Given the description of an element on the screen output the (x, y) to click on. 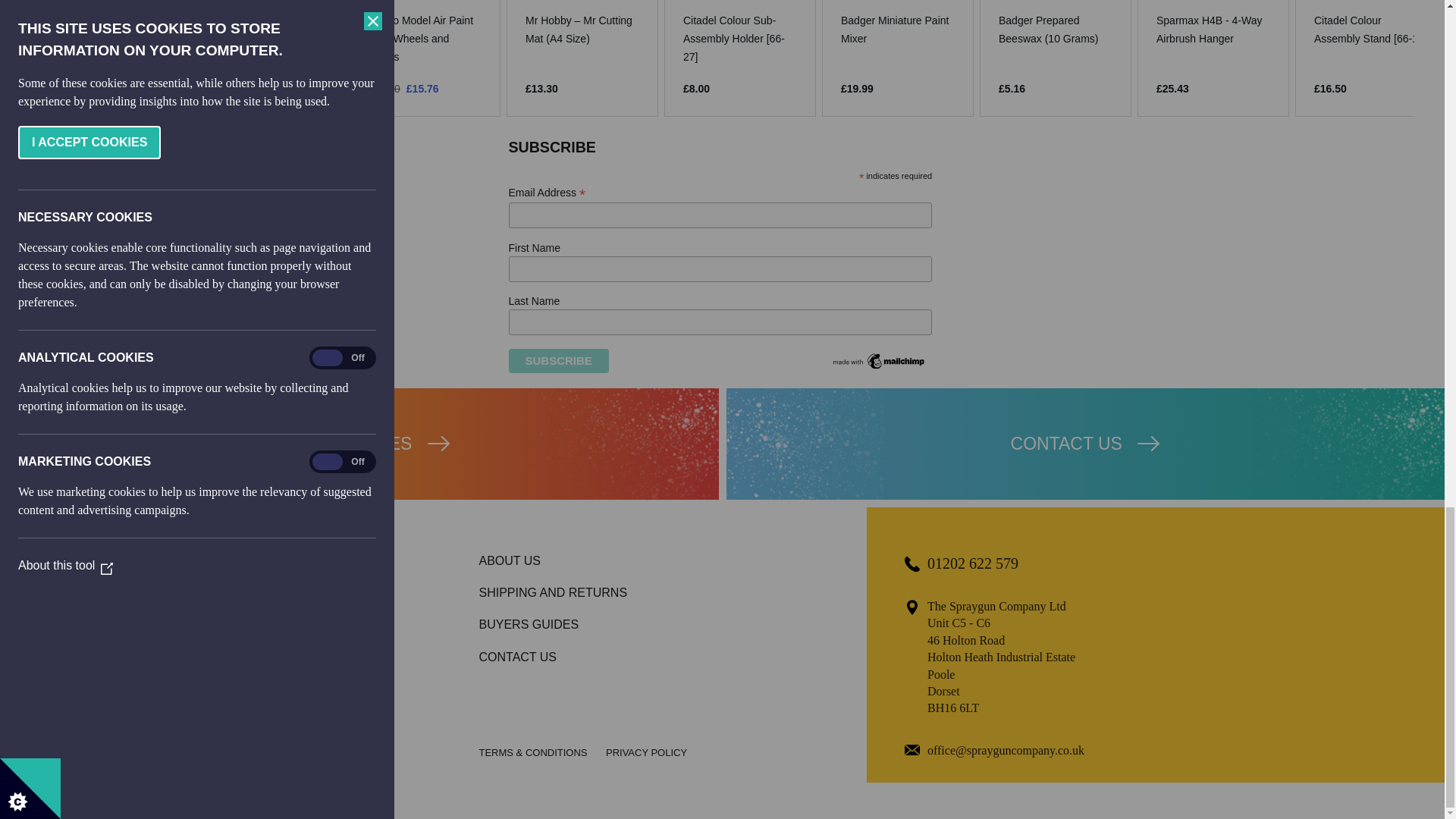
Colour Wheel - Artist's Size (108, 29)
Sparmax H4B - 4-Way Airbrush Hanger (1212, 29)
Subscribe (558, 360)
Vallejo Model Air Paint Set - Wheels and Tracks (424, 38)
Badger Miniature Paint Mixer (898, 29)
Mailchimp - email marketing made easy and fun (880, 367)
